Given the description of an element on the screen output the (x, y) to click on. 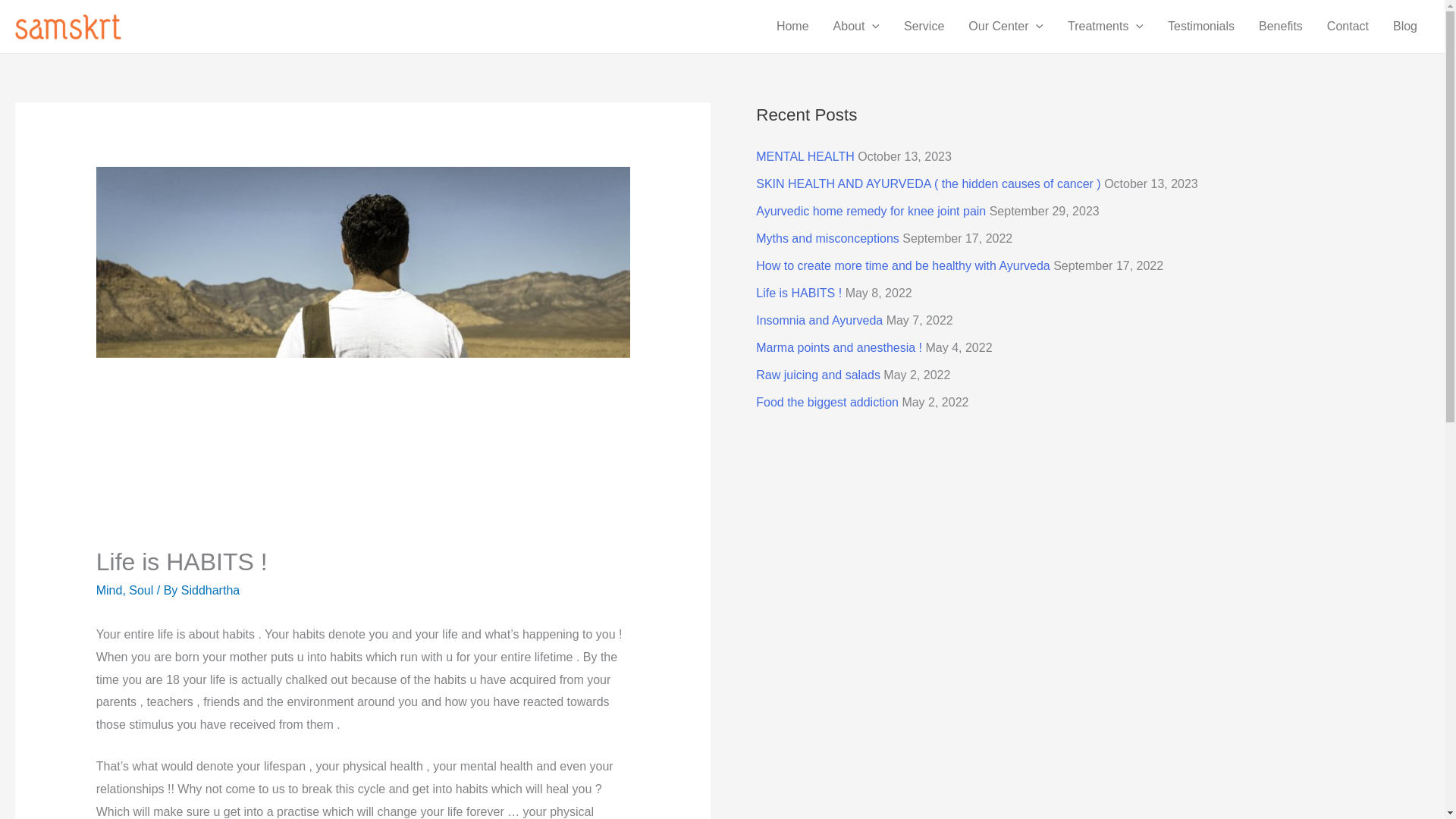
Contact (1347, 26)
Blog (1404, 26)
Treatments (1105, 26)
Home (792, 26)
Mind (109, 590)
About (856, 26)
View all posts by Siddhartha (210, 590)
Service (923, 26)
Benefits (1280, 26)
Testimonials (1201, 26)
Our Center (1005, 26)
